Given the description of an element on the screen output the (x, y) to click on. 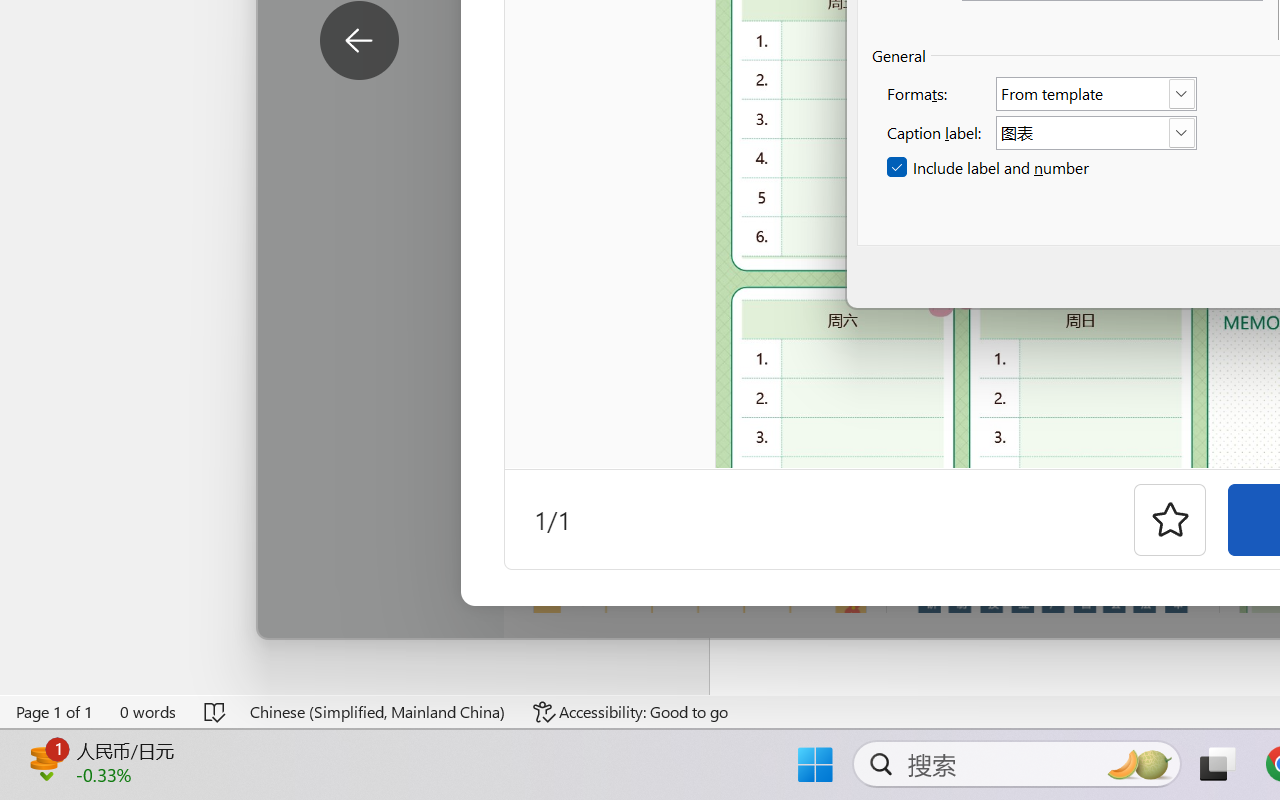
Caption label: (1095, 132)
Include label and number (990, 167)
Language Chinese (Simplified, Mainland China) (378, 712)
Formats: (1095, 93)
